Given the description of an element on the screen output the (x, y) to click on. 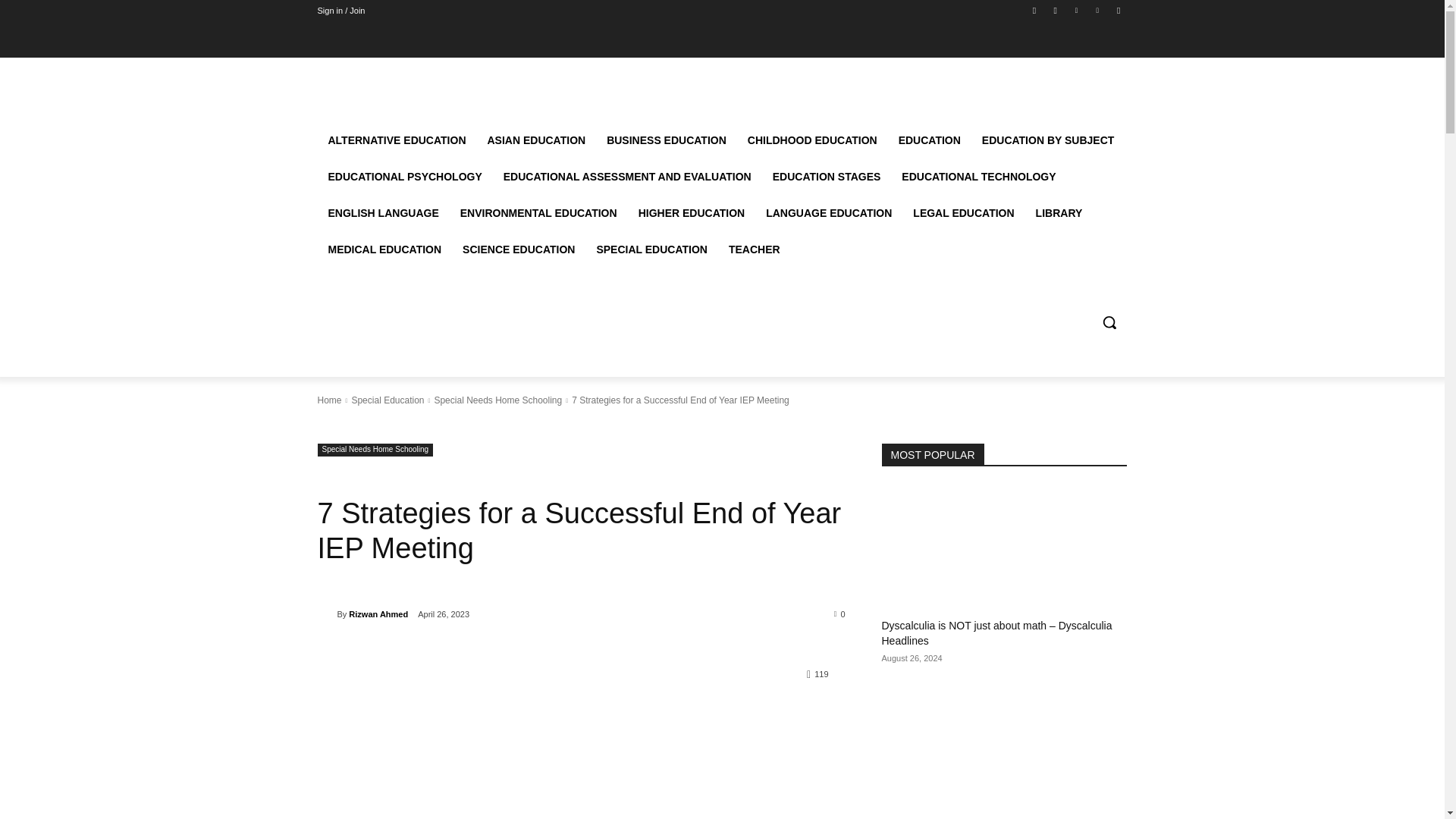
View all posts in Special Education (386, 399)
Youtube (1117, 9)
Facebook (1034, 9)
Instagram (1055, 9)
Vimeo (1097, 9)
View all posts in Special Needs Home Schooling (497, 399)
Rizwan Ahmed (326, 613)
Twitter (1075, 9)
